Given the description of an element on the screen output the (x, y) to click on. 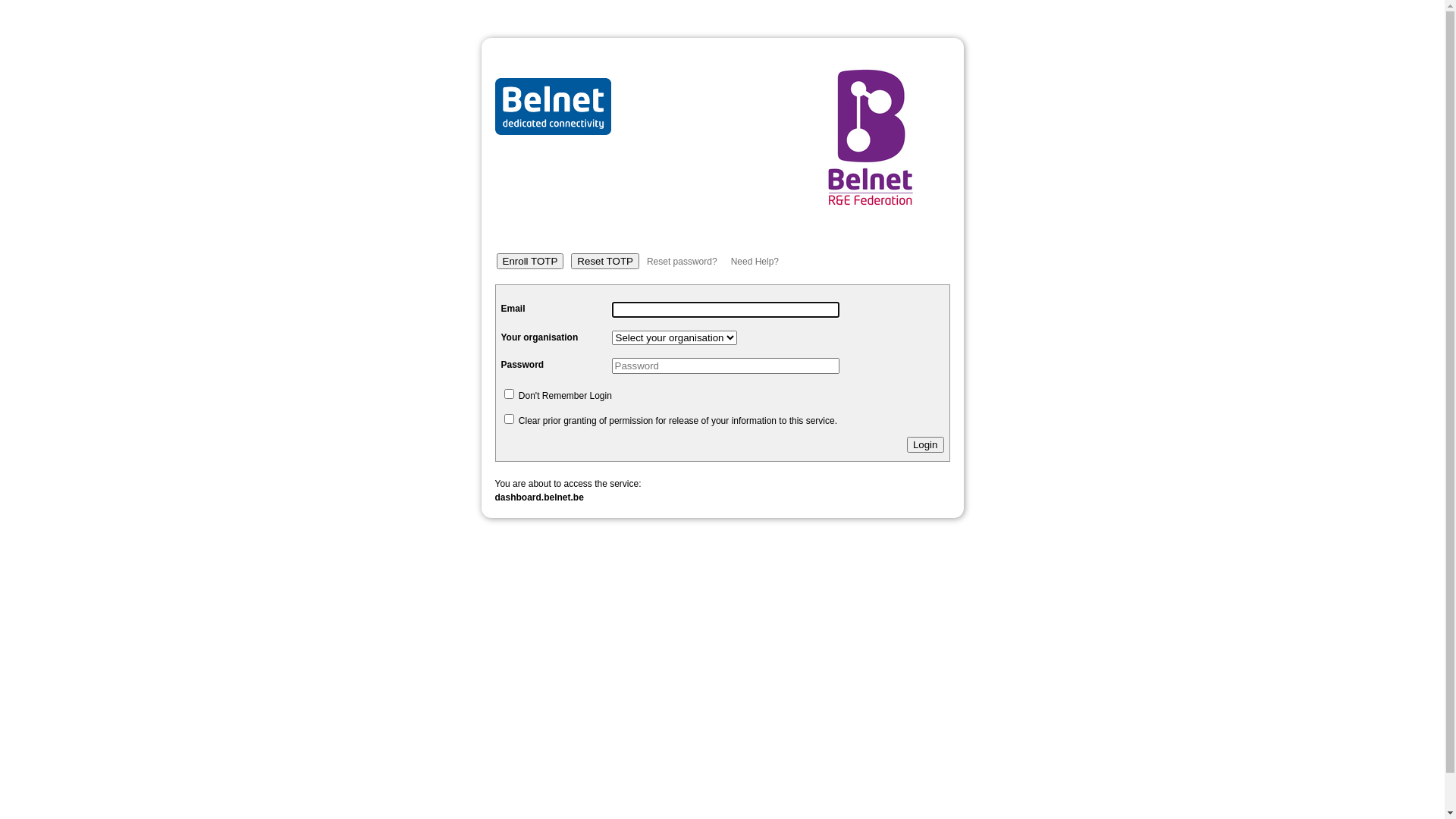
Reset password? Element type: text (681, 261)
Reset TOTP Element type: text (605, 261)
Login Element type: text (925, 444)
Enroll TOTP Element type: text (529, 261)
Need Help? Element type: text (754, 261)
